Given the description of an element on the screen output the (x, y) to click on. 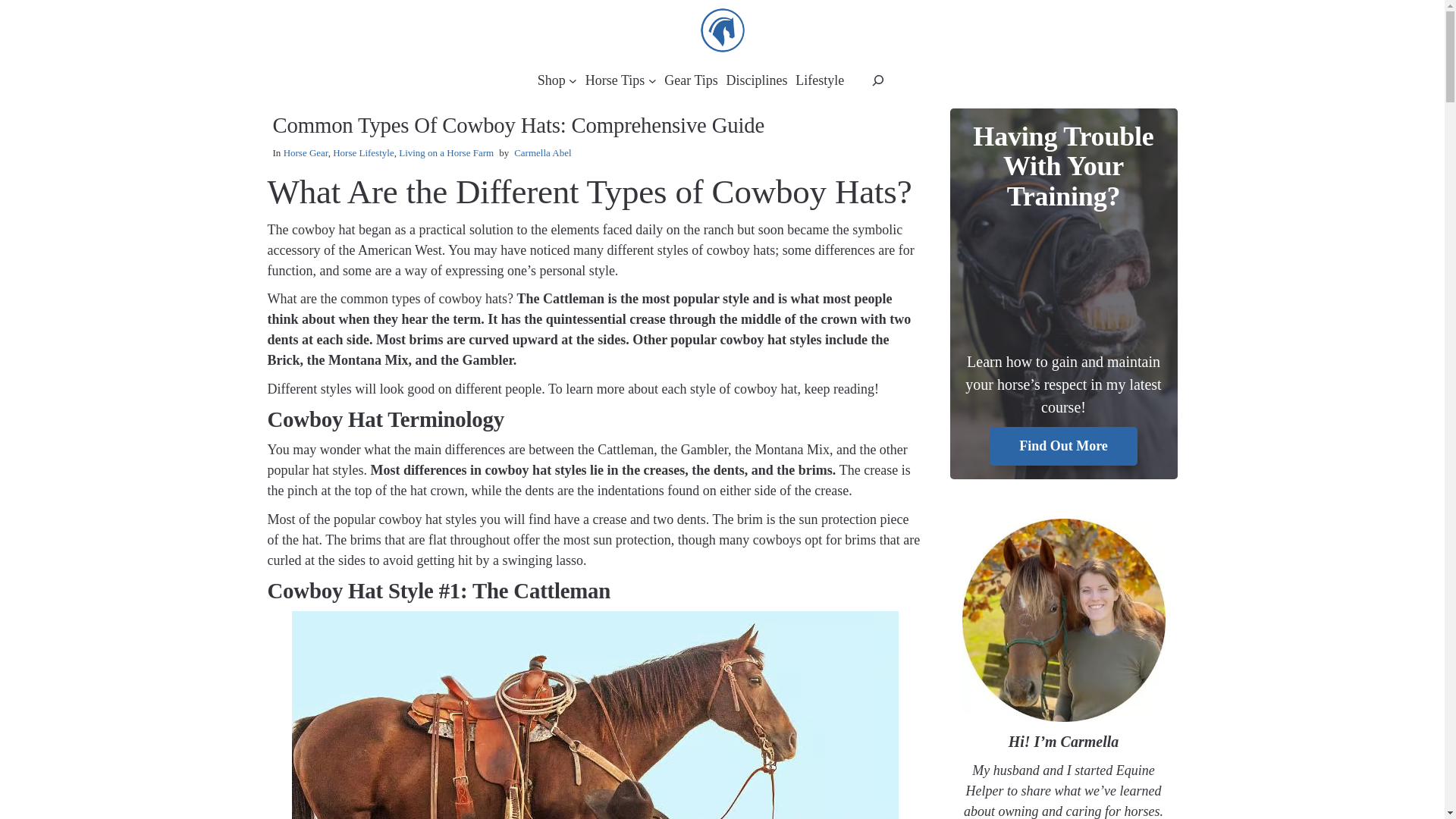
Disciplines (756, 79)
Shop (551, 79)
Horse Lifestyle (363, 152)
Horse Gear (306, 152)
Gear Tips (690, 79)
Carmella Abel (541, 152)
Find Out More (1063, 446)
Horse Tips (615, 79)
Living on a Horse Farm (445, 152)
Lifestyle (819, 79)
